Given the description of an element on the screen output the (x, y) to click on. 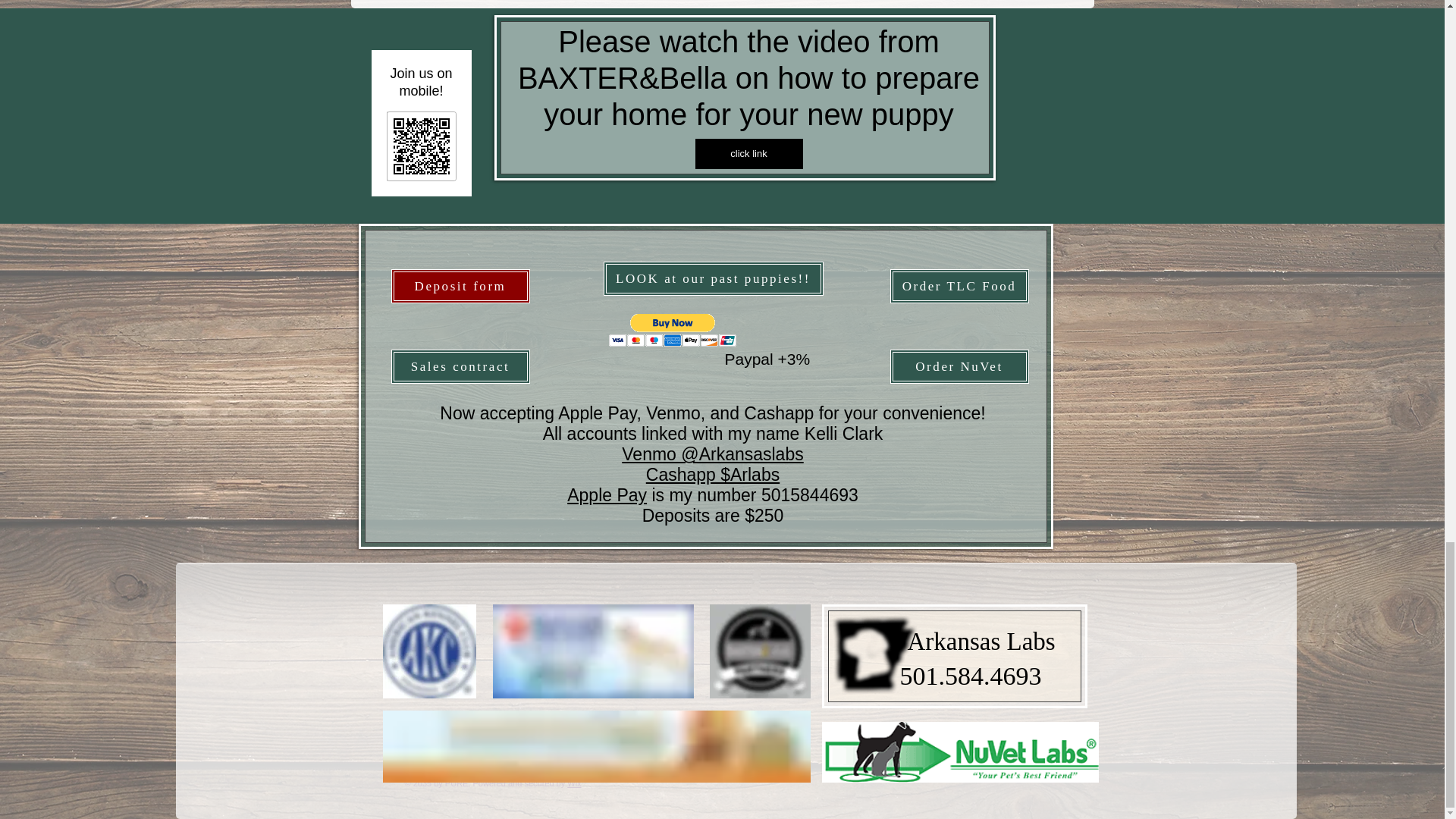
PARTNERS Badge 'ARKANSASLABS'.jpg (760, 651)
Order TLC Food (959, 286)
Unknown-1.jpeg (428, 651)
Order NuVet (959, 366)
click link (748, 153)
LOOK at our past puppies!! (714, 278)
Wix (573, 782)
Deposit form (460, 286)
Sales contract (460, 366)
